Given the description of an element on the screen output the (x, y) to click on. 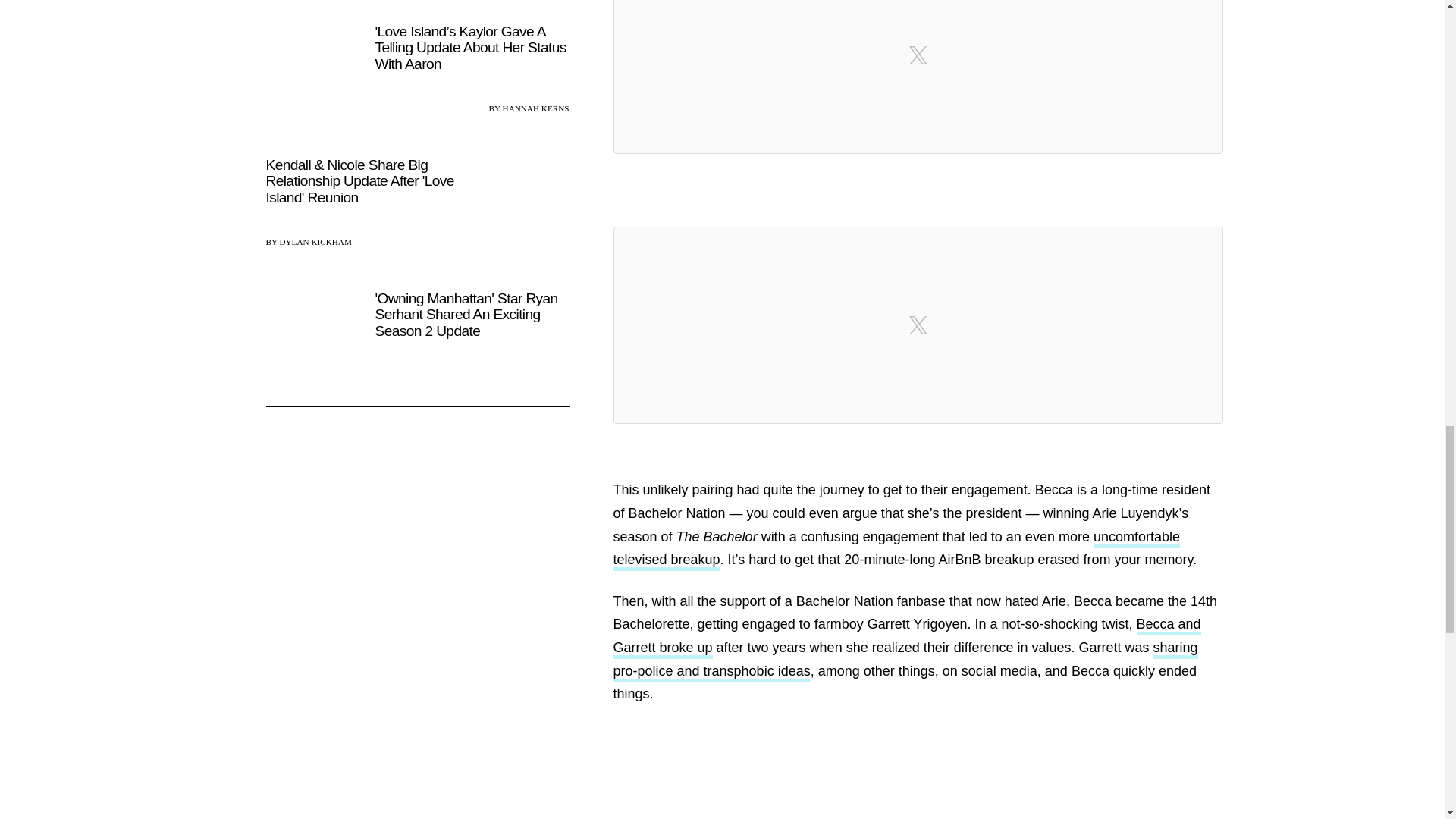
Becca and Garrett broke up (905, 637)
uncomfortable televised breakup (895, 550)
sharing pro-police and transphobic ideas (904, 660)
